Given the description of an element on the screen output the (x, y) to click on. 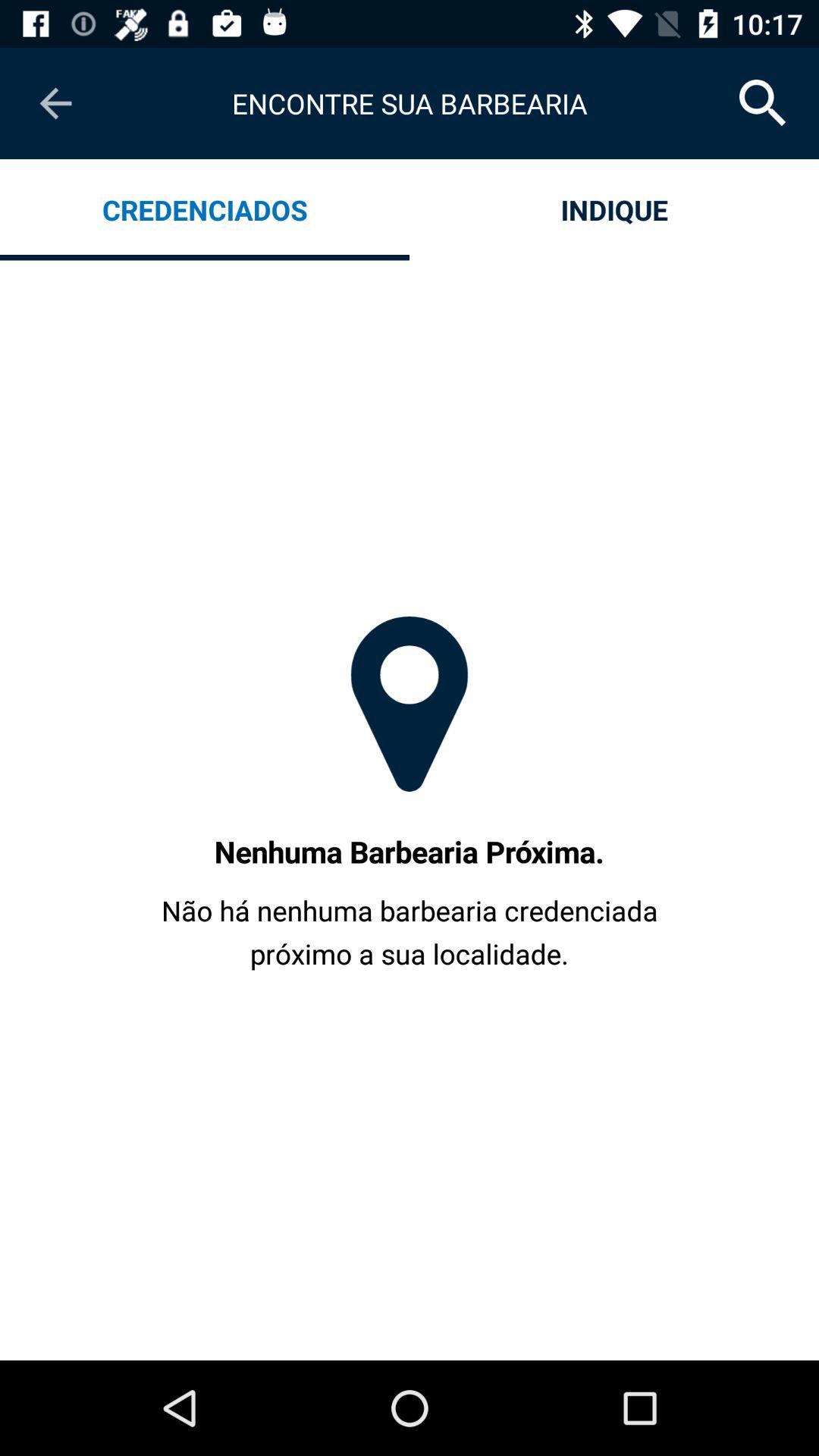
swipe to credenciados item (204, 209)
